Given the description of an element on the screen output the (x, y) to click on. 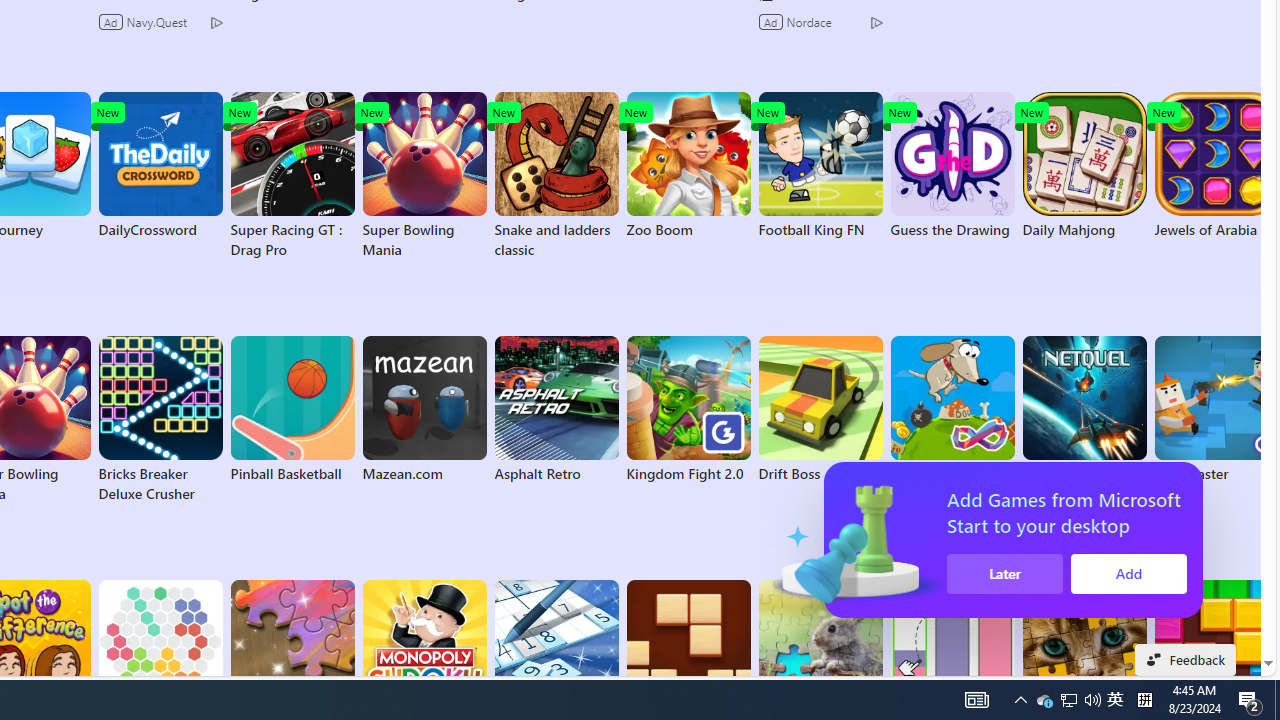
Feedback (1185, 659)
Guess the Drawing (952, 165)
Snake and ladders classic (556, 175)
Jewels of Arabia (1216, 165)
Mazean.com (424, 409)
Super Bowling Mania (424, 175)
netquel.com (1083, 409)
